Given the description of an element on the screen output the (x, y) to click on. 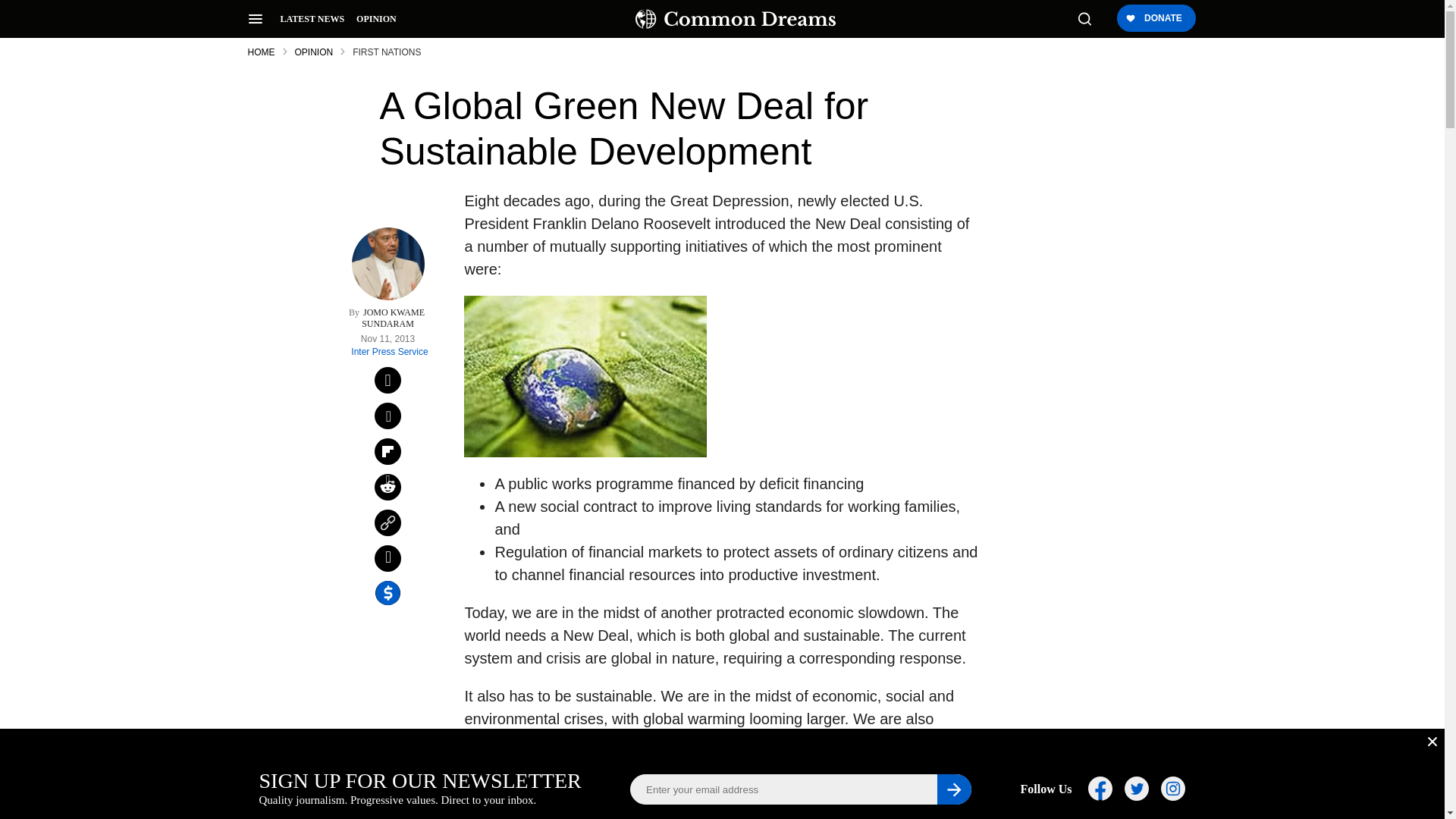
Copy this link to clipboard (387, 522)
LATEST NEWS (313, 18)
OPINION (376, 18)
Donate Button (1154, 19)
Common Dreams (734, 17)
